Given the description of an element on the screen output the (x, y) to click on. 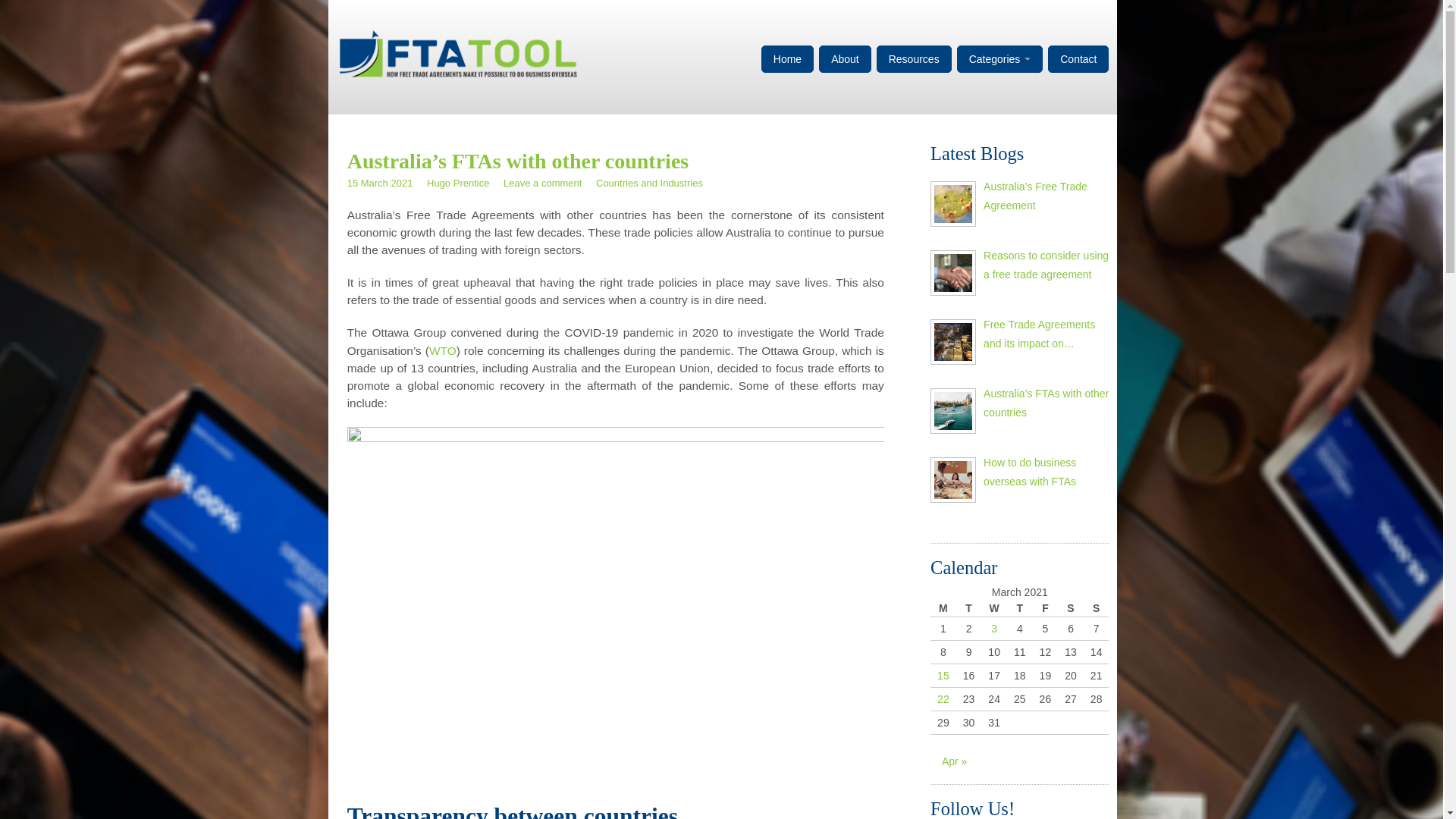
How to do business overseas with FTAs Element type: text (1045, 472)
22 Element type: text (943, 699)
FTA Tool Element type: hover (457, 52)
Free Trade Agreements and its impact on industries Element type: hover (952, 341)
Categories Element type: text (1000, 58)
Free Trade Agreements and its impact on industries Element type: text (1045, 334)
WTO Element type: text (442, 350)
15 Element type: text (943, 675)
Contact Element type: text (1078, 58)
Resources Element type: text (913, 58)
Countries and Industries Element type: text (649, 182)
3 Element type: text (994, 628)
15 March 2021 Element type: text (380, 182)
Hugo Prentice Element type: text (457, 182)
Reasons to consider using a free trade agreement Element type: text (1045, 265)
Reasons to consider using a free trade agreement Element type: hover (952, 272)
Leave a comment Element type: text (542, 182)
About Element type: text (845, 58)
How to do business overseas with FTAs Element type: hover (952, 479)
Home Element type: text (787, 58)
